Given the description of an element on the screen output the (x, y) to click on. 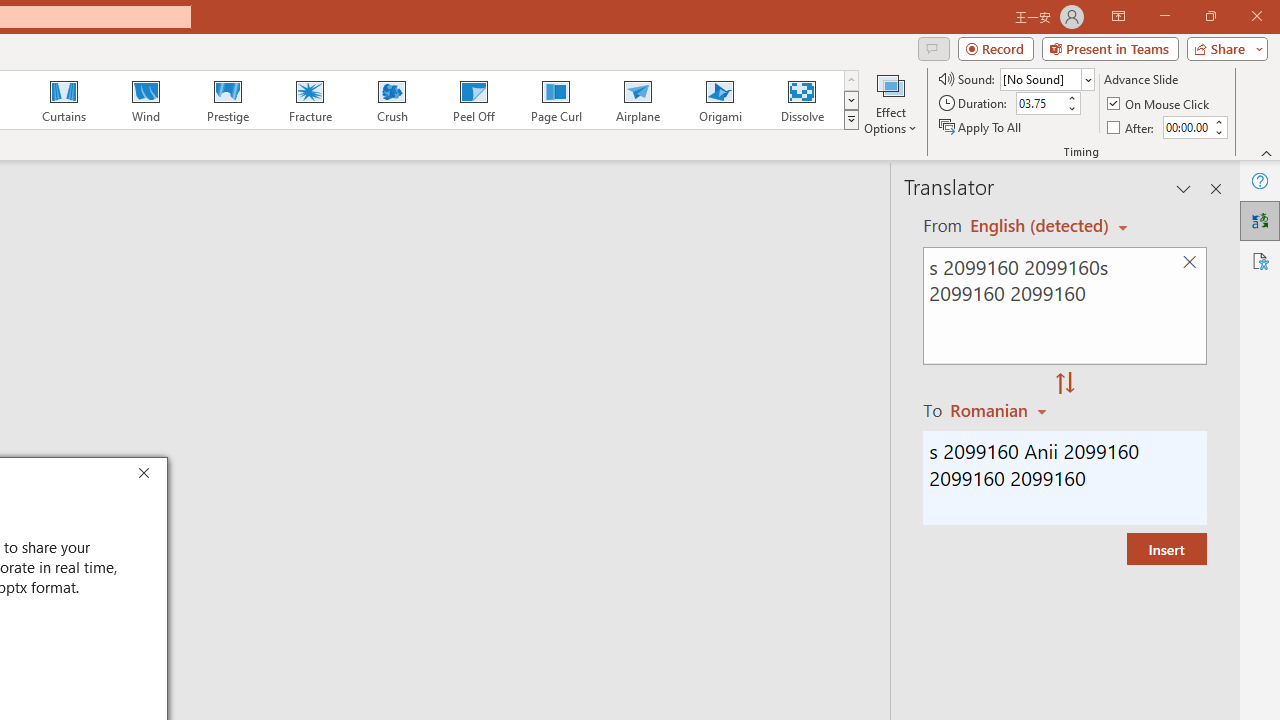
Peel Off (473, 100)
Clear text (1189, 262)
Fracture (309, 100)
Romanian (1001, 409)
Page Curl (555, 100)
Prestige (227, 100)
Curtains (63, 100)
Wind (145, 100)
